Given the description of an element on the screen output the (x, y) to click on. 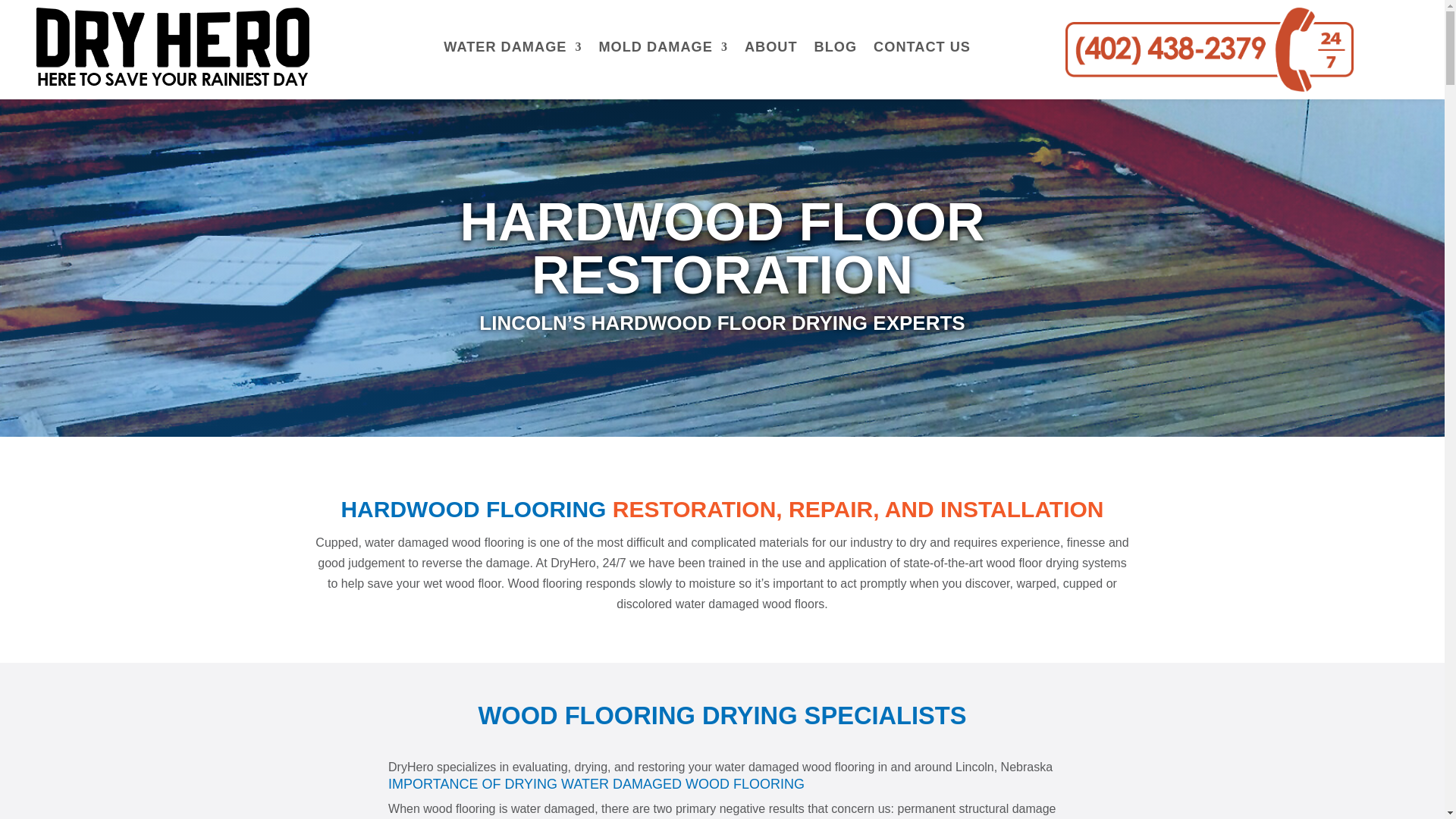
ABOUT (770, 46)
BLOG (835, 46)
WATER DAMAGE (512, 46)
MOLD DAMAGE (662, 46)
phone-test (1209, 49)
CONTACT US (922, 46)
